Given the description of an element on the screen output the (x, y) to click on. 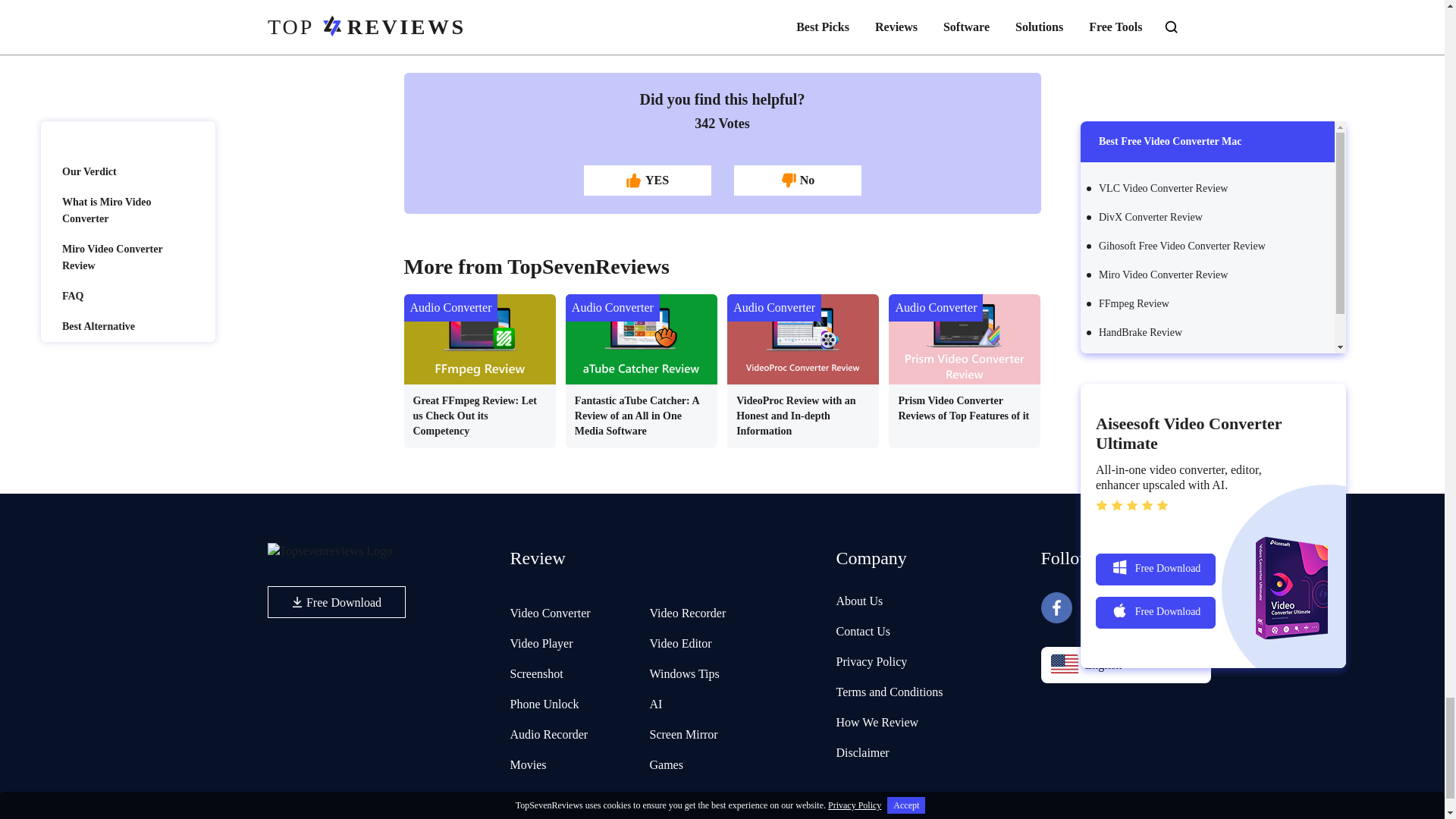
Audio Converter (612, 307)
Audio Converter (773, 307)
VideoProc Review with an Honest and In-depth Information (802, 366)
Audio Converter (450, 307)
Great FFmpeg Review: Let us Check Out its Competency (478, 366)
